Given the description of an element on the screen output the (x, y) to click on. 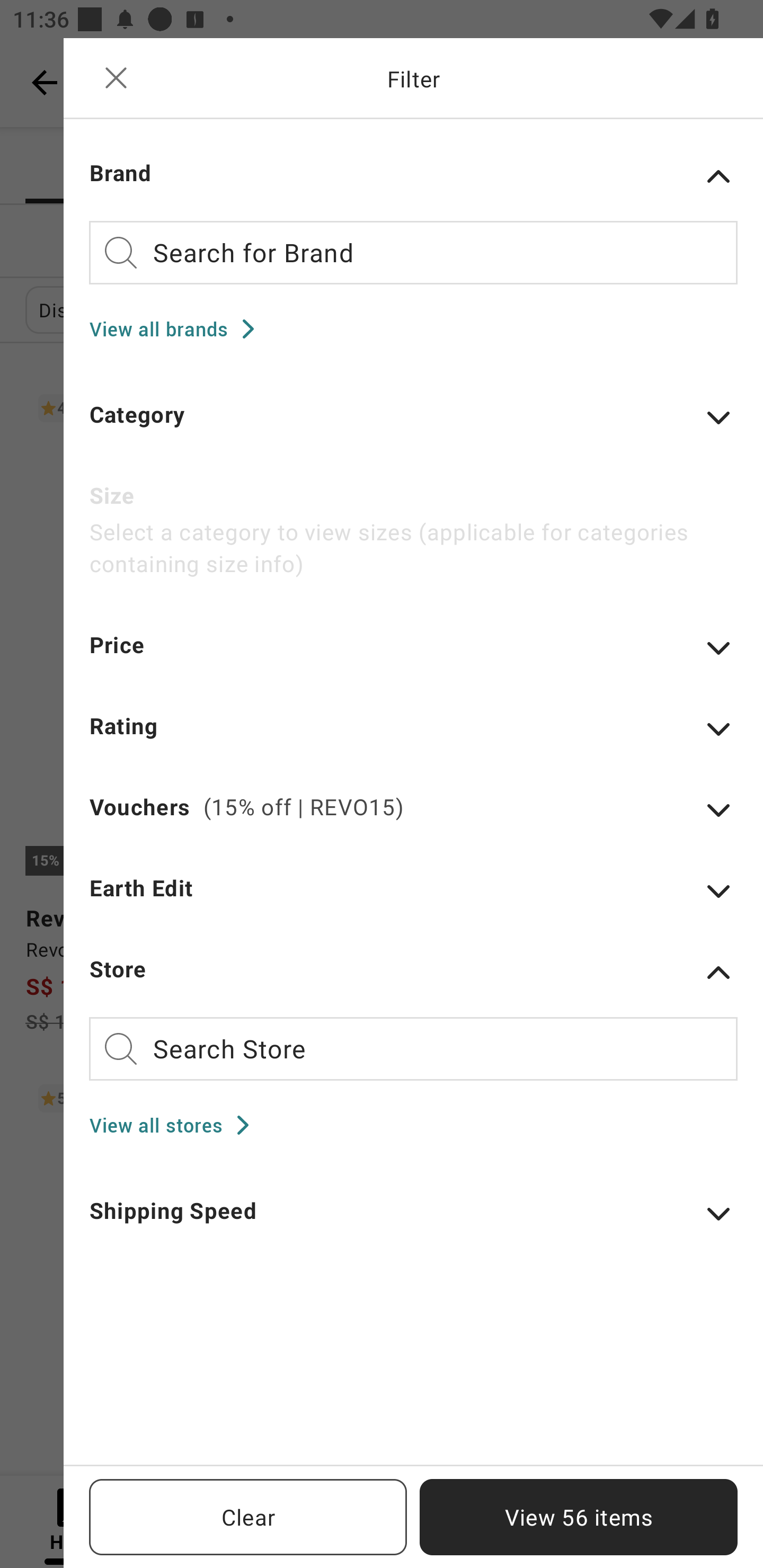
Brand (413, 176)
Search for Brand (413, 252)
View all brands (177, 328)
Category (413, 426)
Price (413, 656)
Rating (413, 738)
Vouchers (15% off | REVO15) (413, 818)
Earth Edit (413, 899)
Store (413, 971)
Search Store (413, 1048)
View all stores (174, 1124)
Shipping Speed (413, 1222)
Clear (247, 1516)
View 56 items (578, 1516)
